Given the description of an element on the screen output the (x, y) to click on. 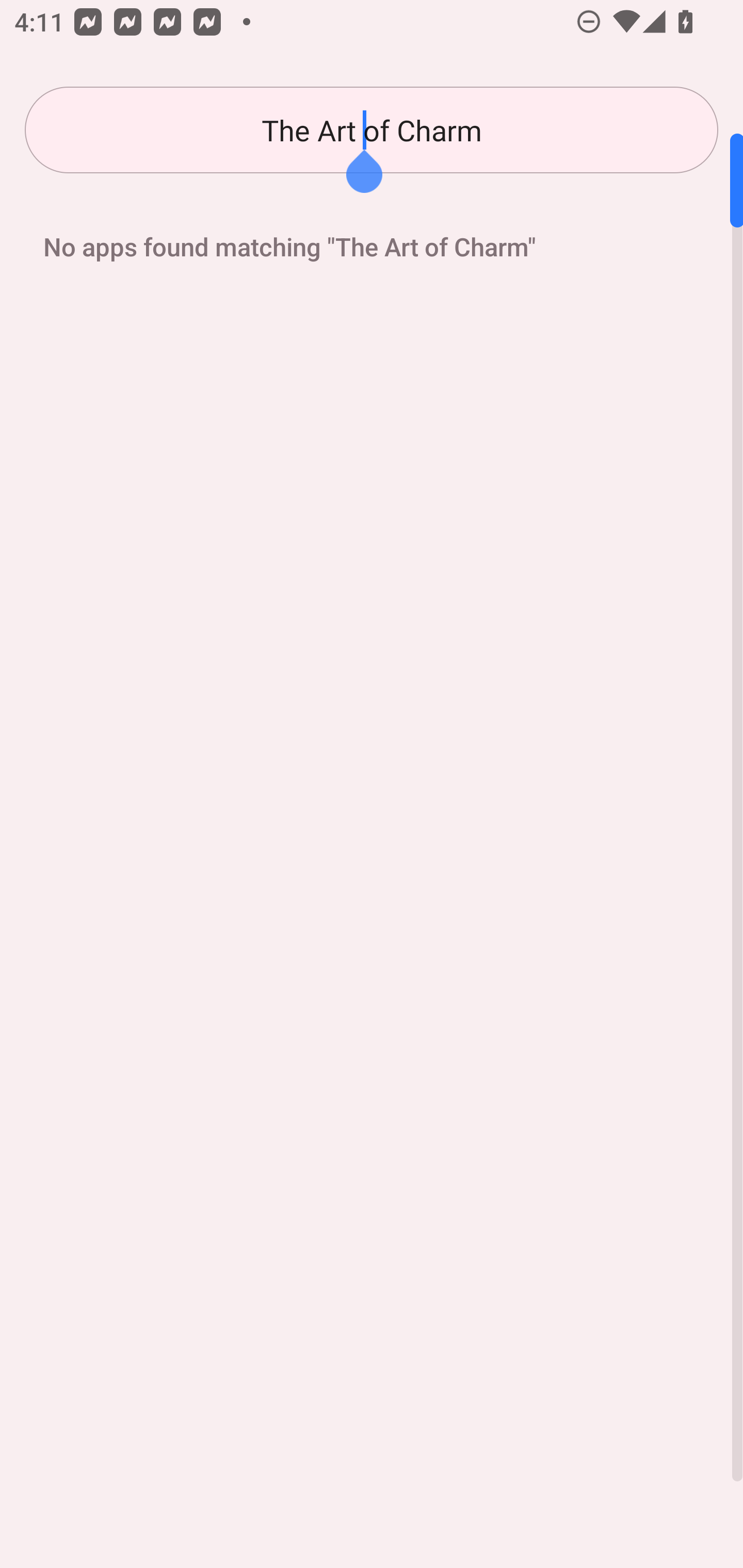
The Art of Charm (371, 130)
